Given the description of an element on the screen output the (x, y) to click on. 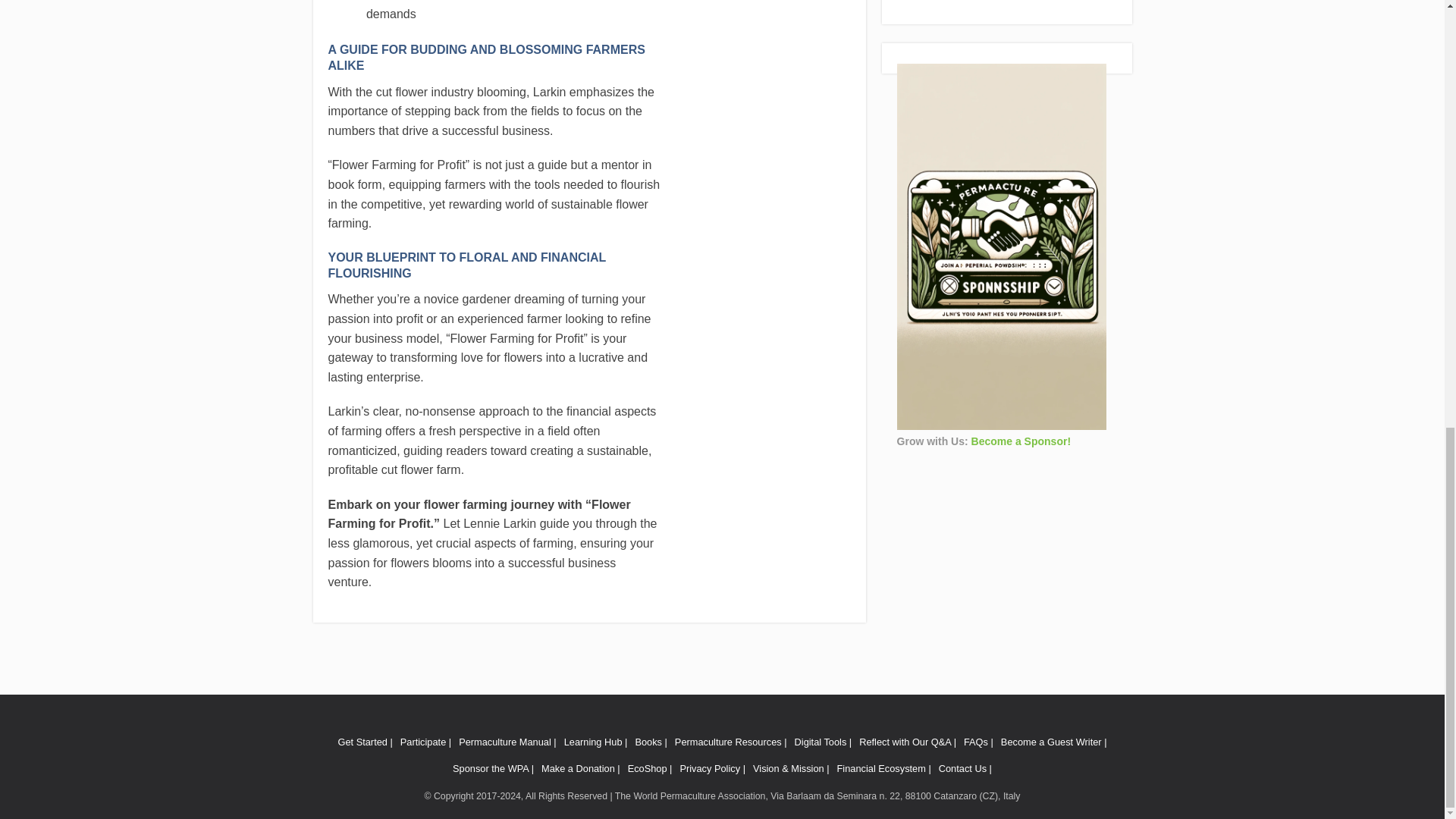
Contact Us (965, 767)
Privacy Policy (712, 767)
Become a Sponsor! (1020, 440)
